Given the description of an element on the screen output the (x, y) to click on. 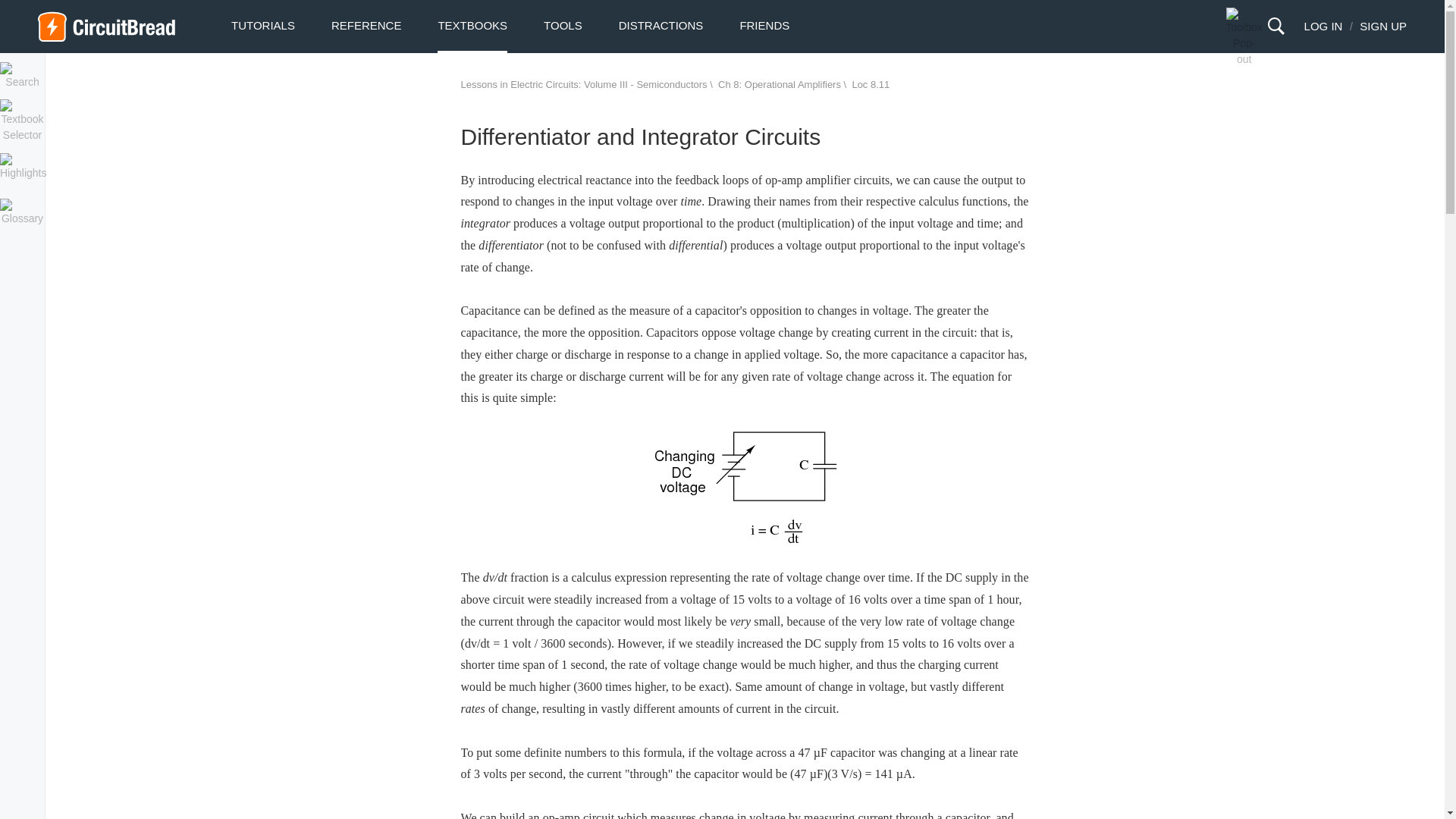
TEXTBOOKS (472, 25)
TUTORIALS (263, 25)
REFERENCE (366, 25)
